Given the description of an element on the screen output the (x, y) to click on. 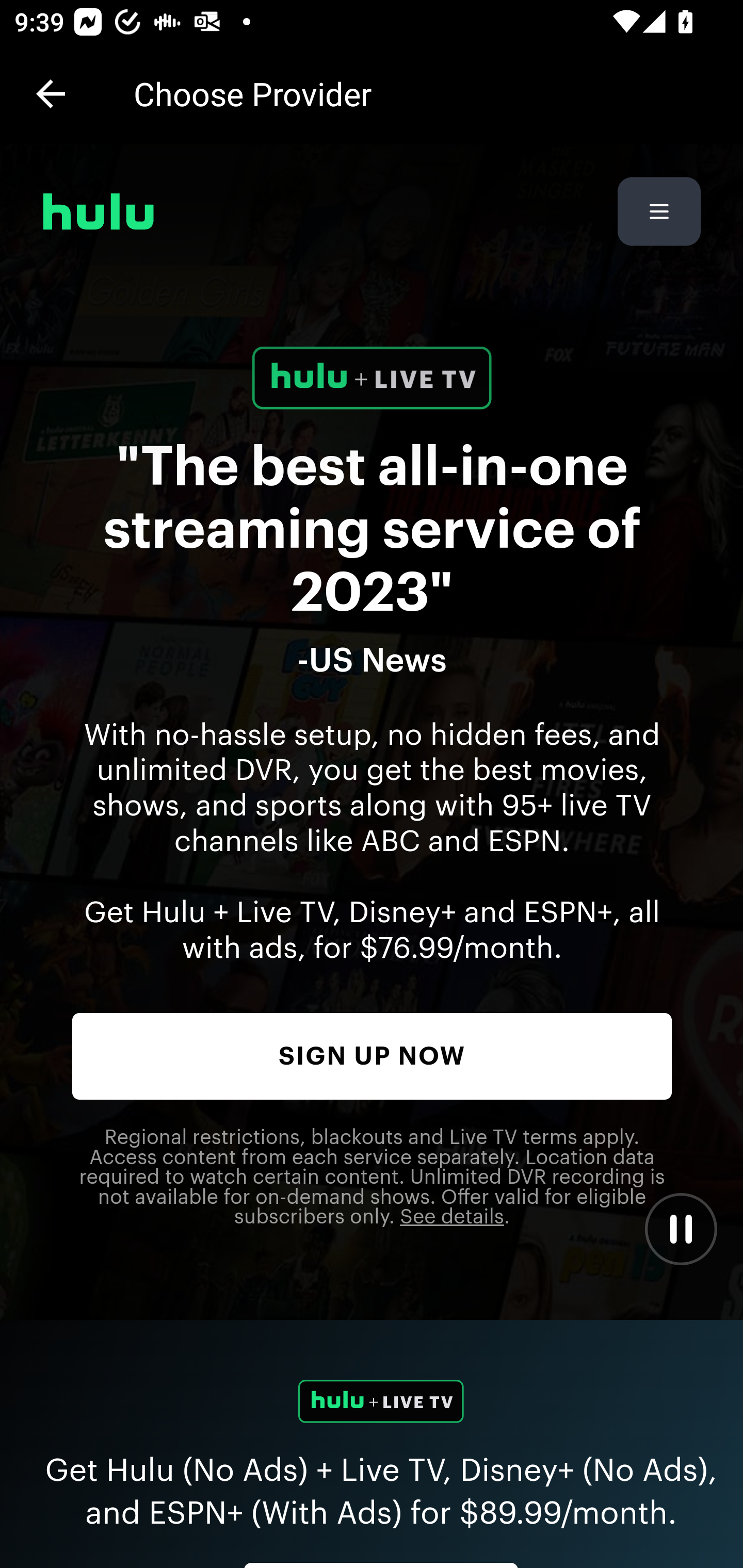
Navigate up (50, 93)
hulu (99, 211)
"The best all-in-one streaming service of 2023" (372, 529)
-US News (372, 660)
SIGN UP NOW (372, 1056)
Pause Video (680, 1228)
Click to see offer eligibility details. (451, 1218)
